Given the description of an element on the screen output the (x, y) to click on. 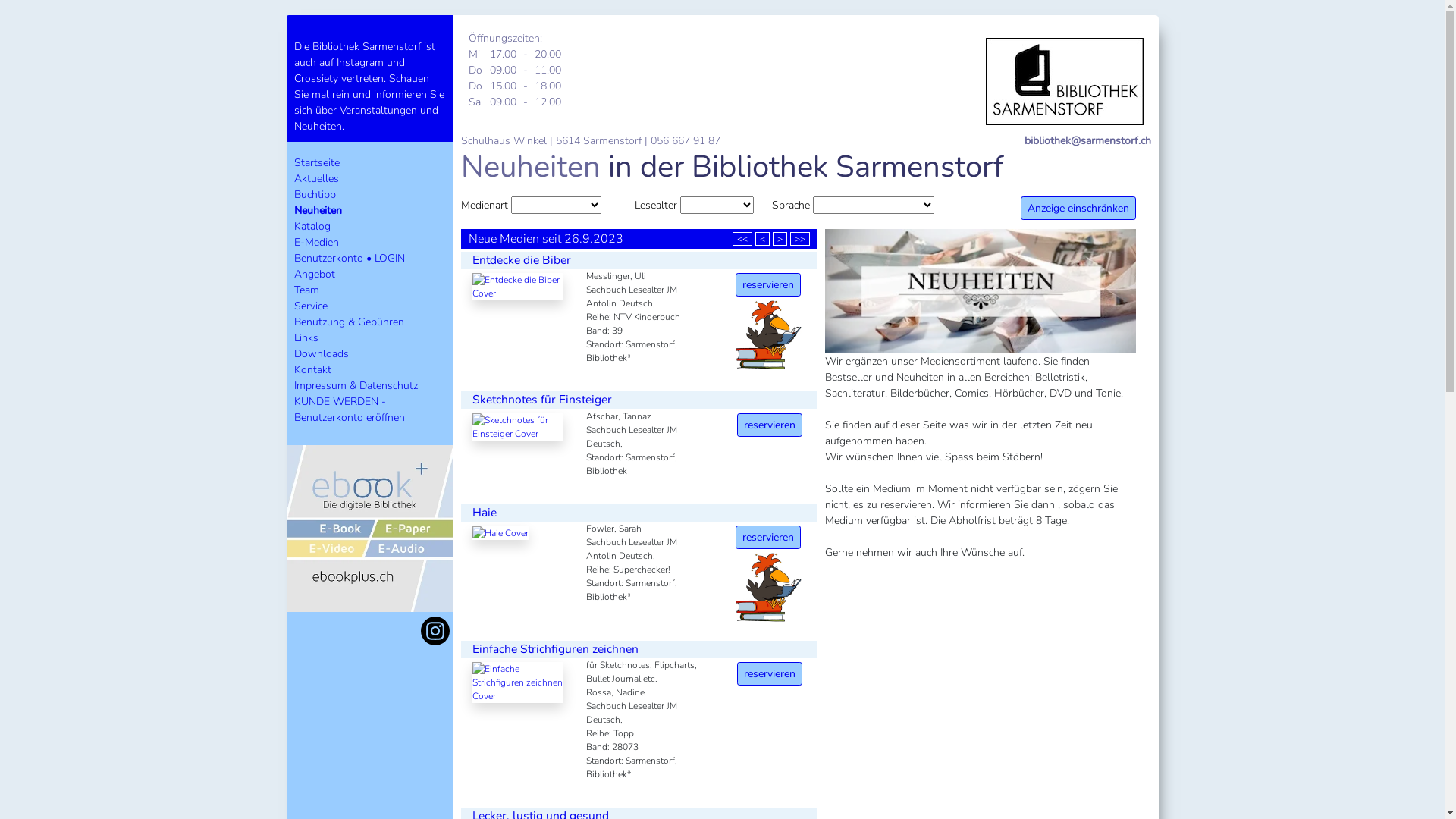
bibliothek@sarmenstorf.ch Element type: text (1086, 140)
Haie Element type: text (483, 512)
Links Element type: text (306, 337)
Einfache Strichfiguren zeichnen Element type: text (554, 648)
Downloads Element type: text (321, 353)
Buchtipp Element type: text (314, 194)
>> Element type: text (799, 238)
Impressum & Datenschutz Element type: text (355, 385)
reservieren Element type: text (767, 284)
Aktuelles Element type: text (316, 178)
reservieren Element type: text (769, 673)
Entdecke die Biber Element type: text (520, 259)
<< Element type: text (742, 238)
Service Element type: text (310, 305)
Neuheiten Element type: text (318, 210)
Angebot Element type: text (314, 273)
Startseite Element type: text (316, 162)
> Element type: text (778, 238)
Katalog Element type: text (312, 226)
Team Element type: text (306, 289)
Kontakt Element type: text (312, 369)
E-Medien Element type: text (316, 242)
< Element type: text (762, 238)
reservieren Element type: text (769, 424)
reservieren Element type: text (767, 537)
